Given the description of an element on the screen output the (x, y) to click on. 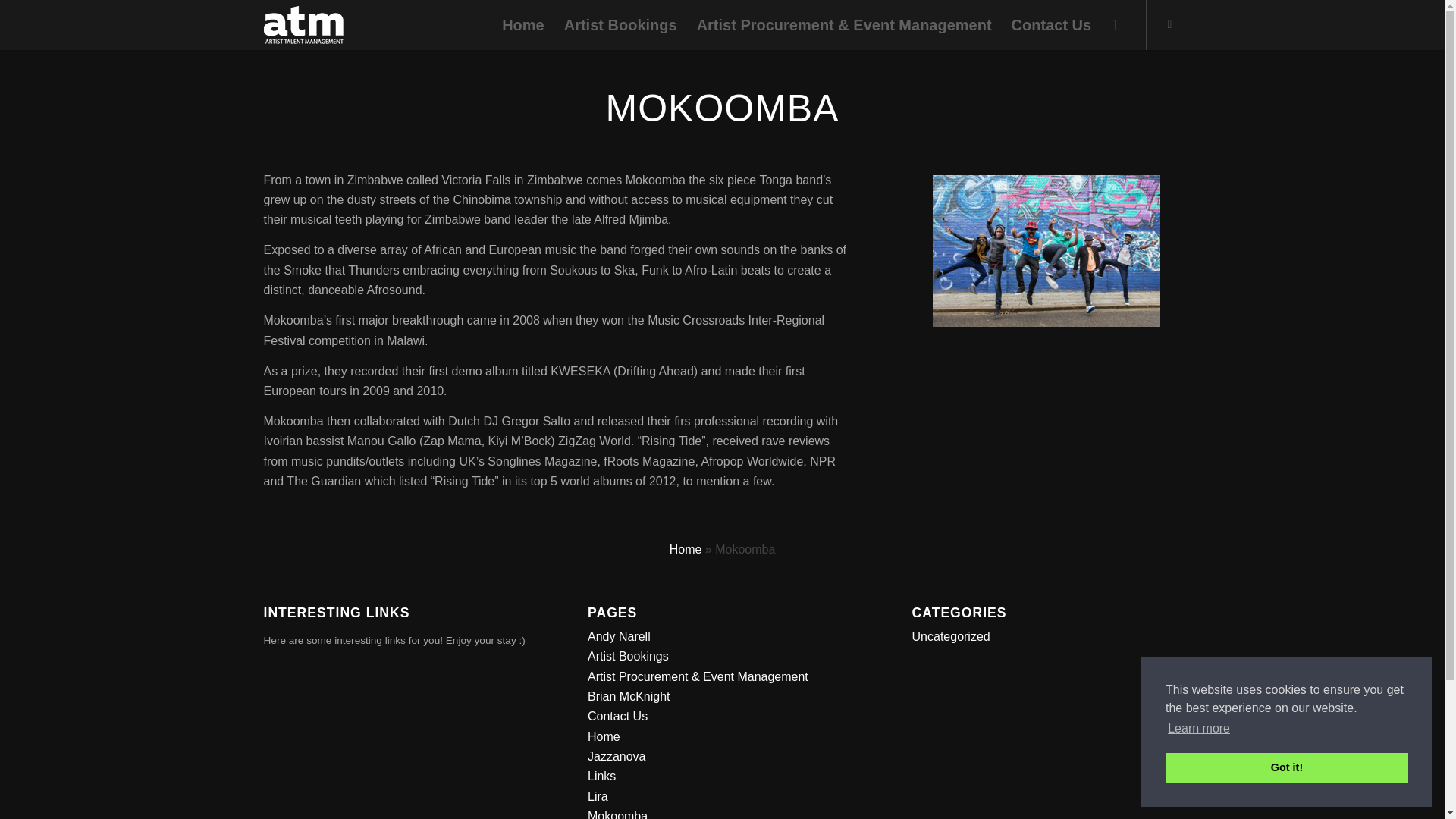
Artist Bookings (620, 24)
Links (601, 775)
Home (685, 549)
Brian McKnight (628, 696)
Mokoomba (617, 814)
Jazzanova (617, 756)
Uncategorized (951, 635)
Home (523, 24)
Lira (598, 796)
mokoomba2 (1046, 250)
Learn more (1198, 728)
Contact Us (1051, 24)
Andy Narell (619, 635)
Contact Us (617, 716)
logo-atm (303, 24)
